Given the description of an element on the screen output the (x, y) to click on. 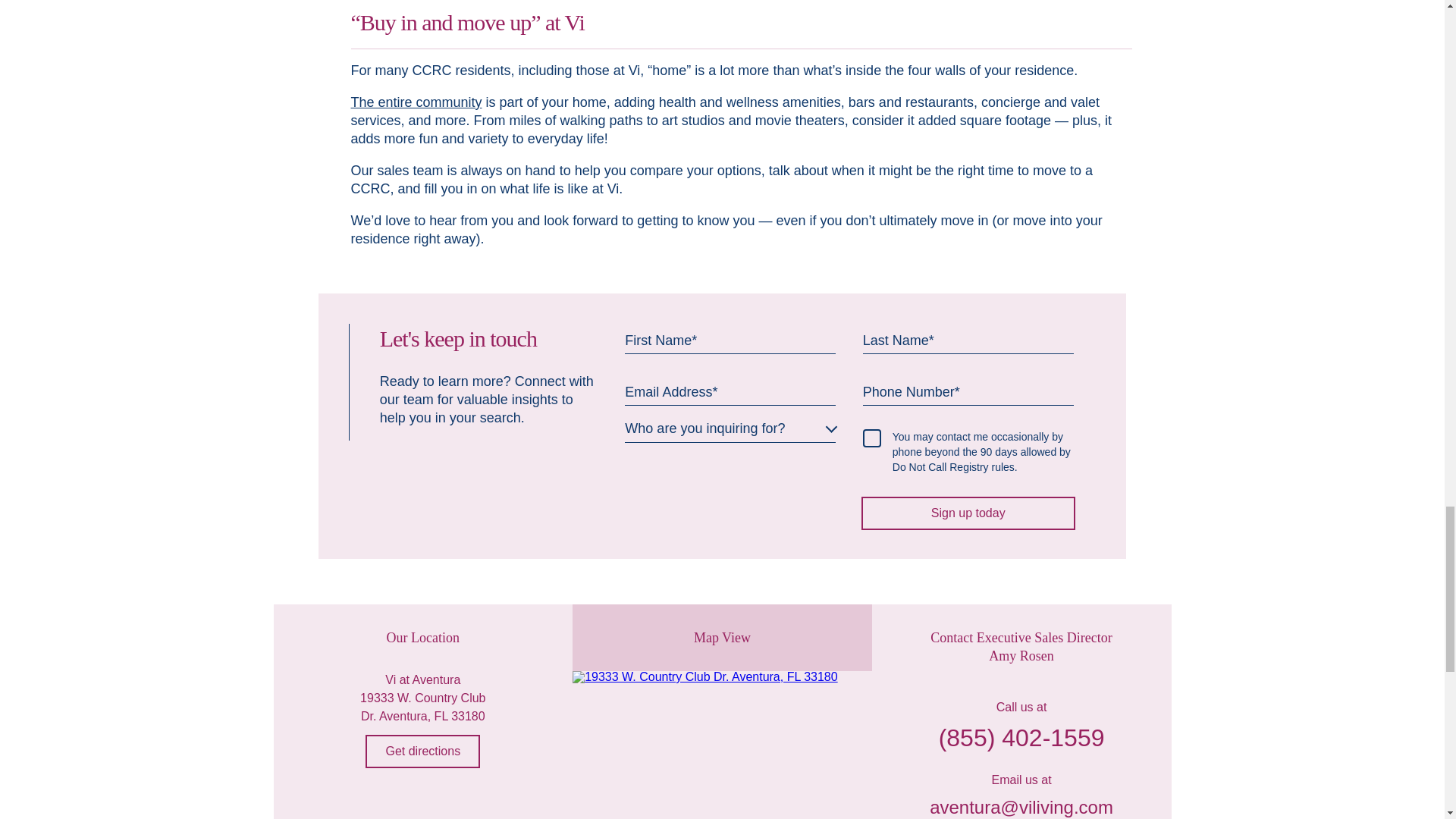
Get directions (422, 751)
